Given the description of an element on the screen output the (x, y) to click on. 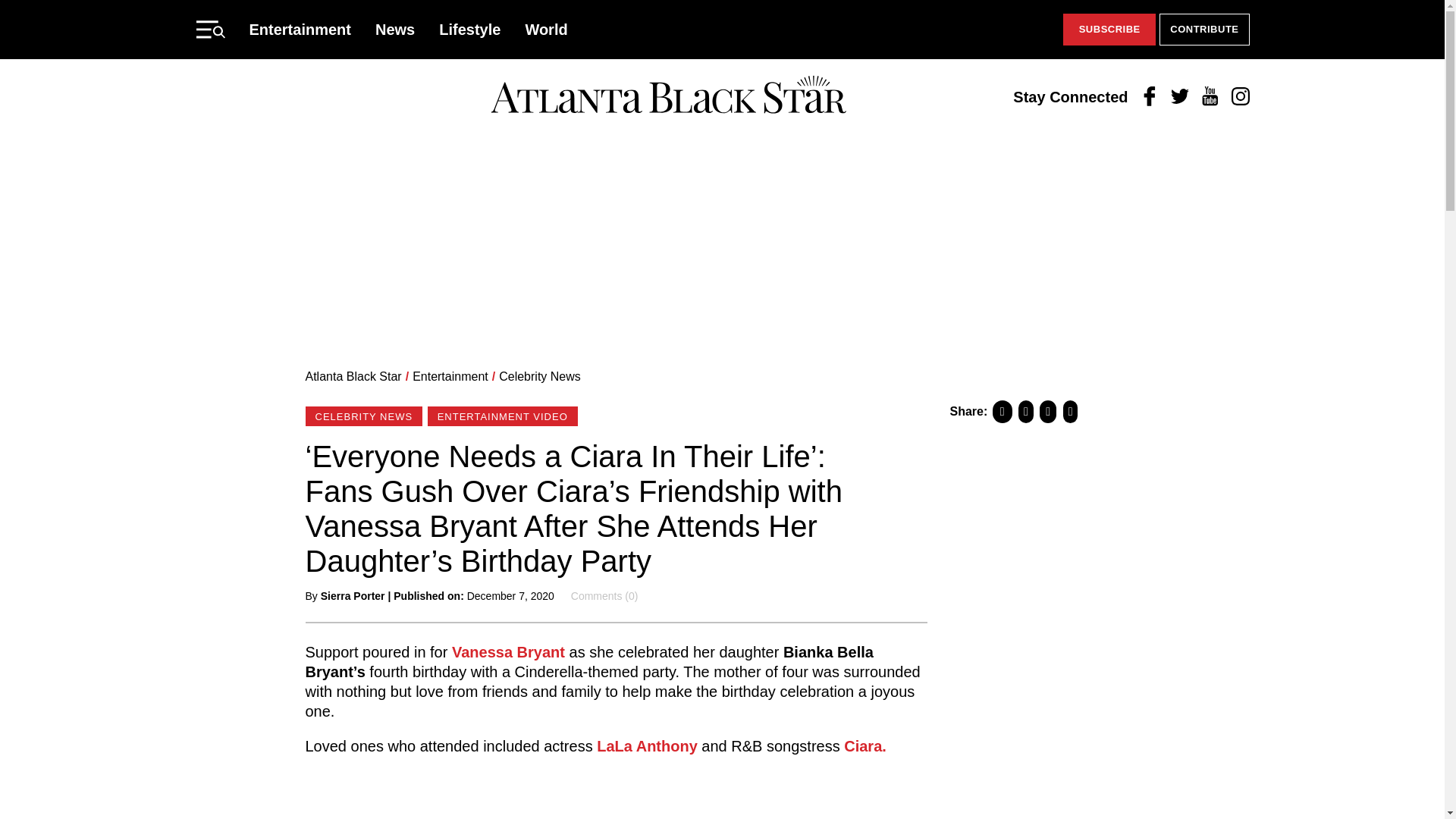
World (545, 29)
Go to Atlanta Black Star. (352, 376)
SUBSCRIBE (1109, 29)
Atlanta Black Star (667, 96)
ENTERTAINMENT VIDEO (503, 415)
Atlanta Black Star (352, 376)
Go to the Celebrity News Category archives. (539, 376)
Entertainment (449, 376)
News (394, 29)
Lifestyle (469, 29)
